Given the description of an element on the screen output the (x, y) to click on. 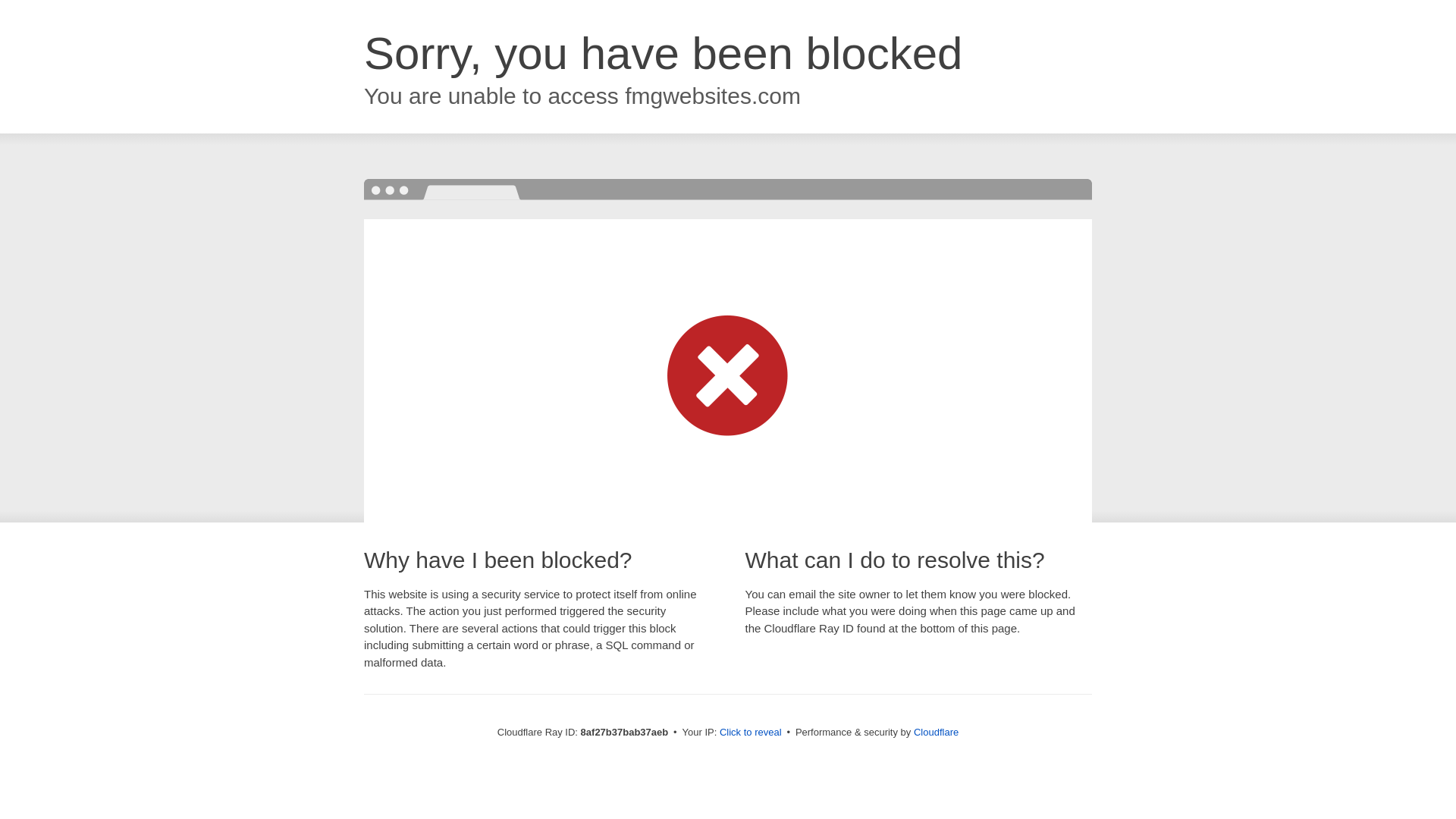
Cloudflare (936, 731)
Click to reveal (750, 732)
